Given the description of an element on the screen output the (x, y) to click on. 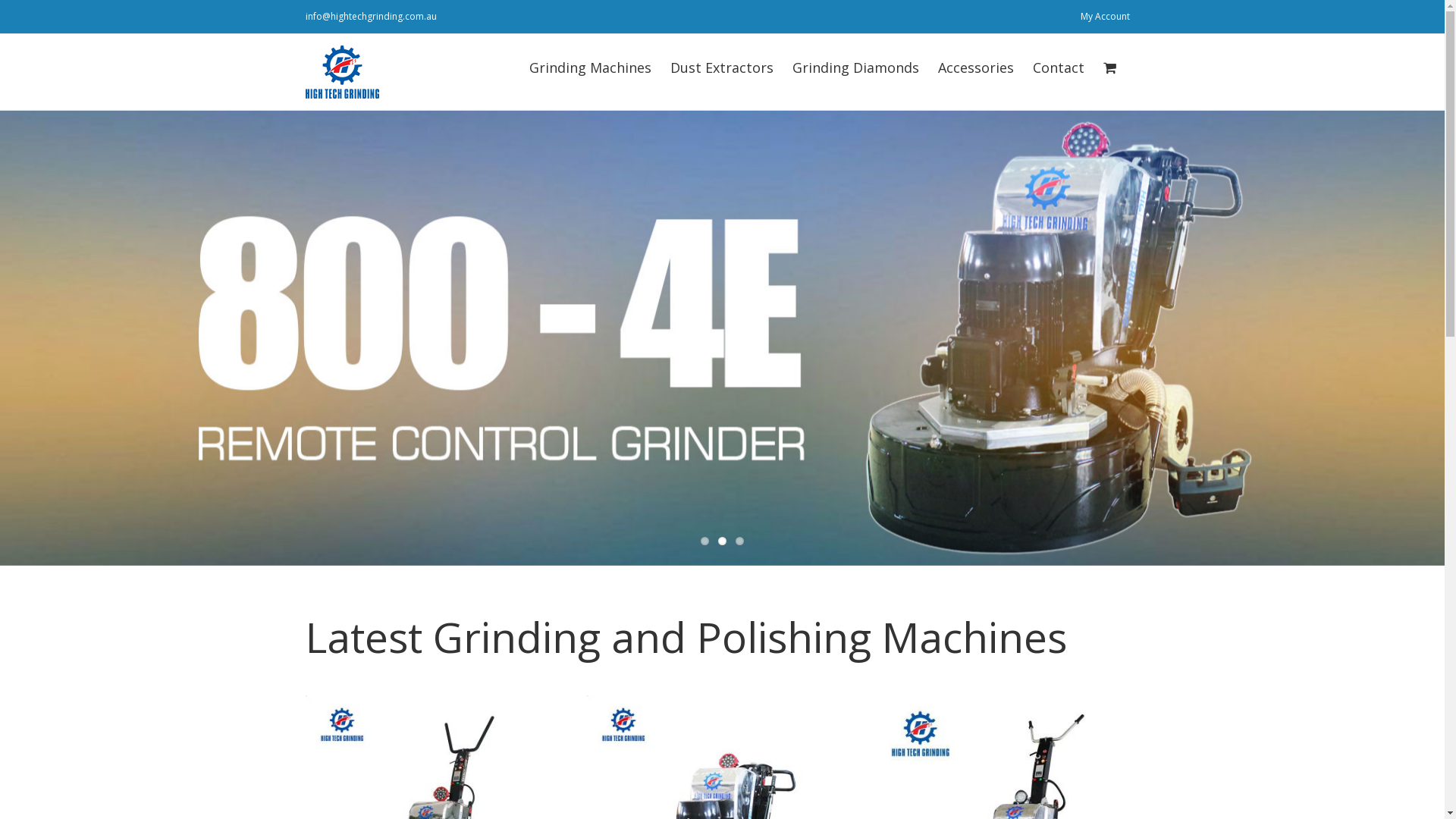
2 Element type: text (722, 540)
My Account Element type: text (1104, 16)
Grinding Diamonds Element type: text (854, 65)
info@hightechgrinding.com.au Element type: text (370, 15)
Dust Extractors Element type: text (721, 65)
1 Element type: text (704, 540)
Accessories Element type: text (975, 65)
3 Element type: text (739, 540)
Grinding Machines Element type: text (590, 65)
Contact Element type: text (1058, 65)
Log In Element type: text (1162, 144)
